Given the description of an element on the screen output the (x, y) to click on. 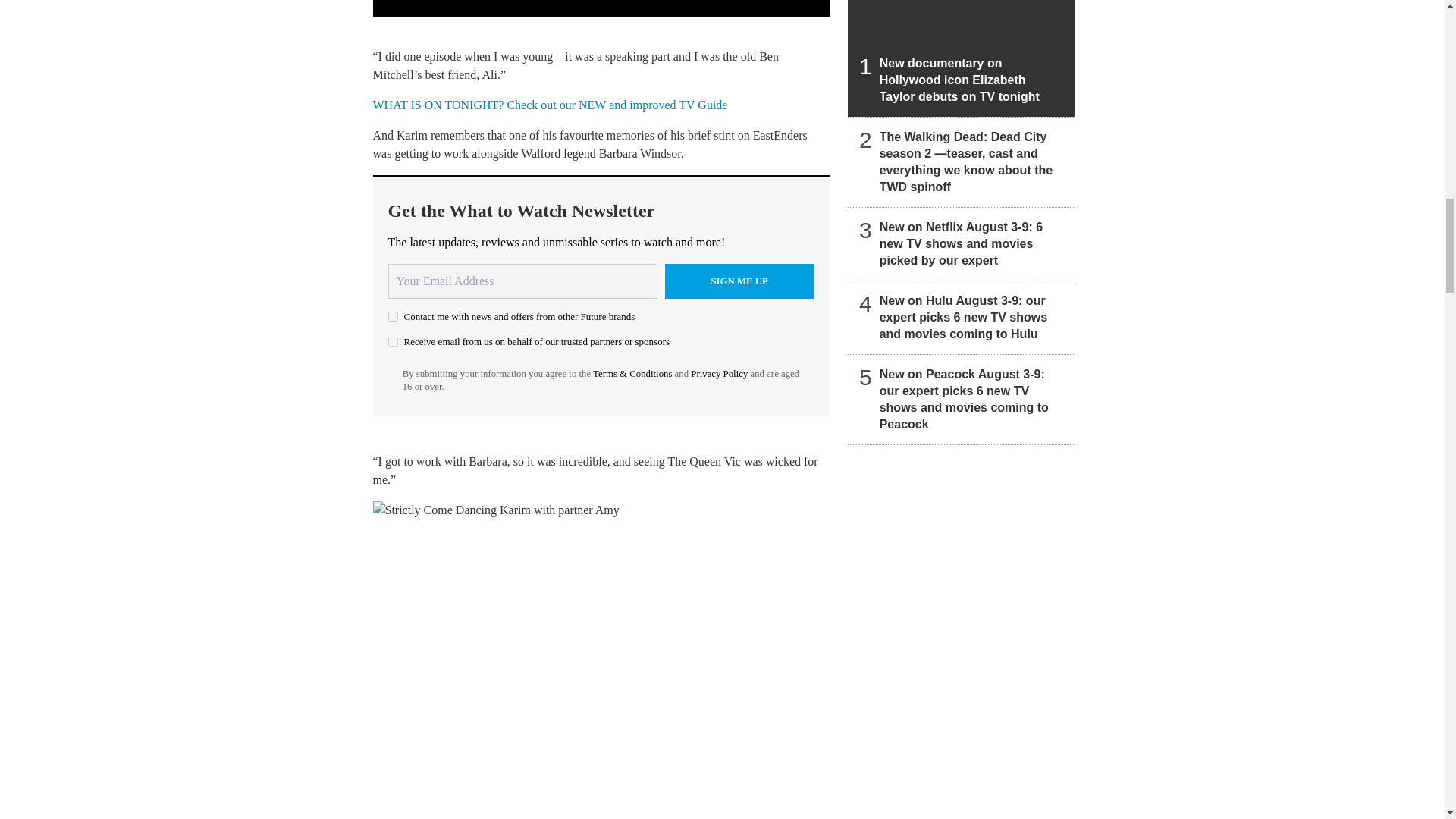
Sign me up (739, 280)
on (392, 341)
on (392, 316)
